Given the description of an element on the screen output the (x, y) to click on. 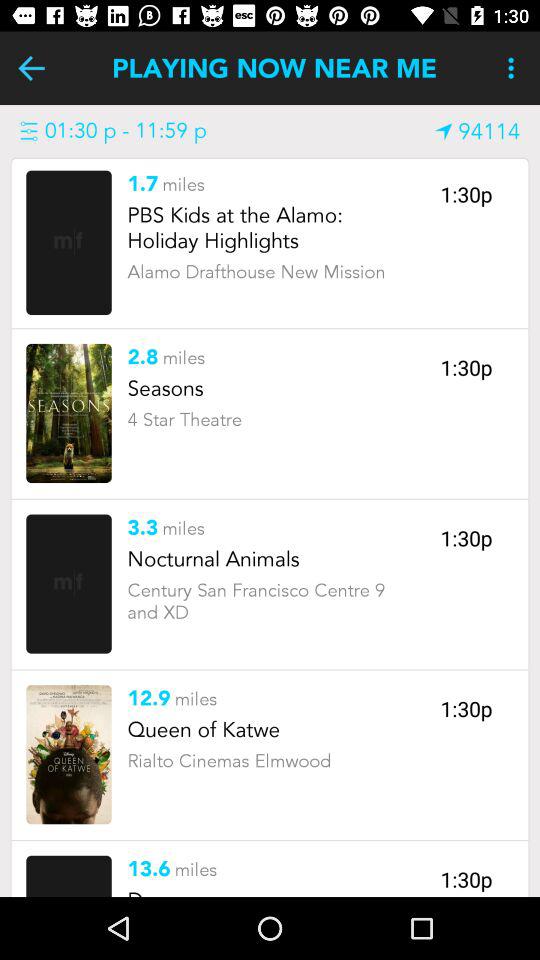
view item (68, 413)
